Given the description of an element on the screen output the (x, y) to click on. 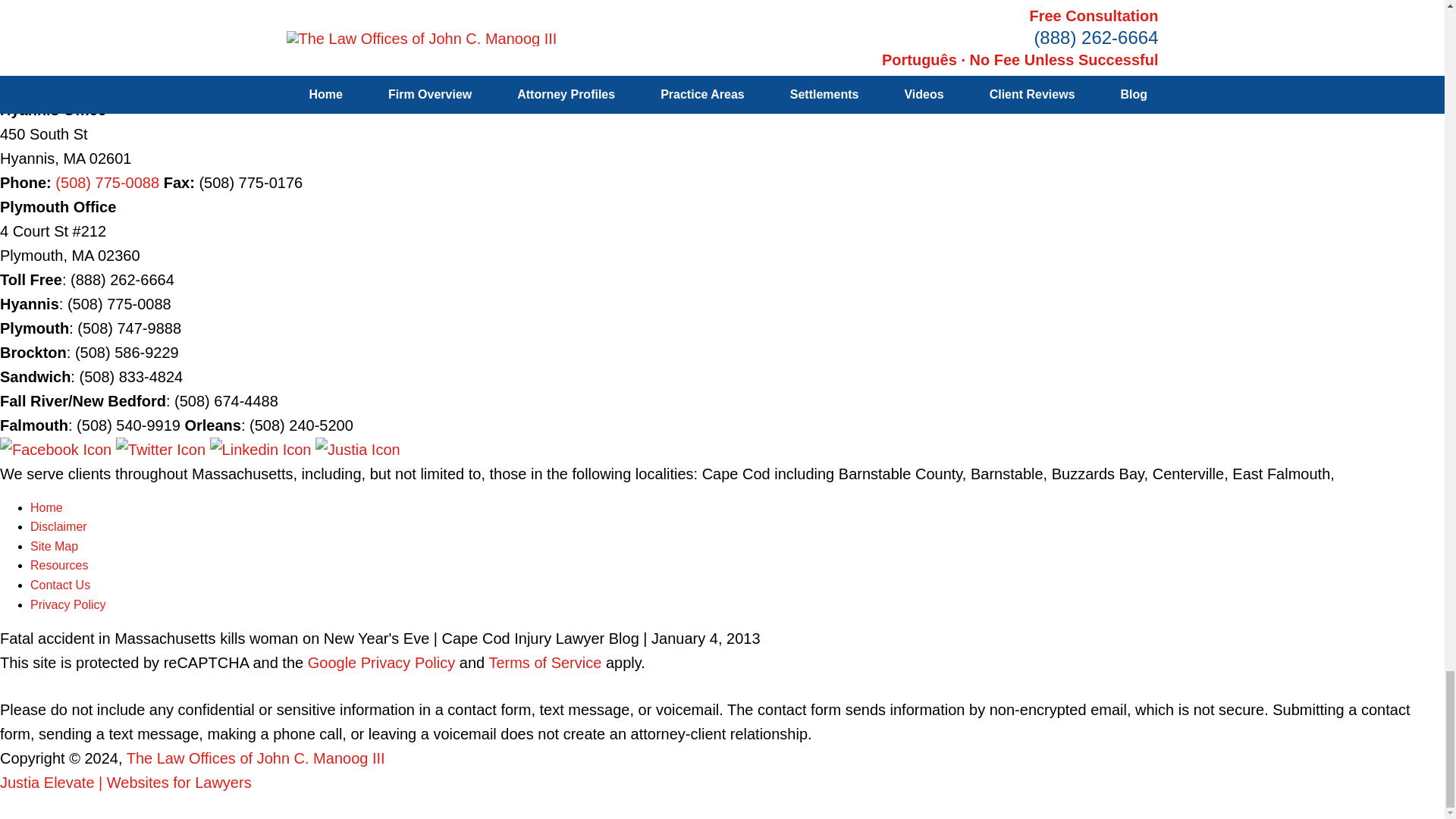
Justia (357, 449)
Facebook (58, 449)
Linkedin (262, 449)
Twitter (162, 449)
